Given the description of an element on the screen output the (x, y) to click on. 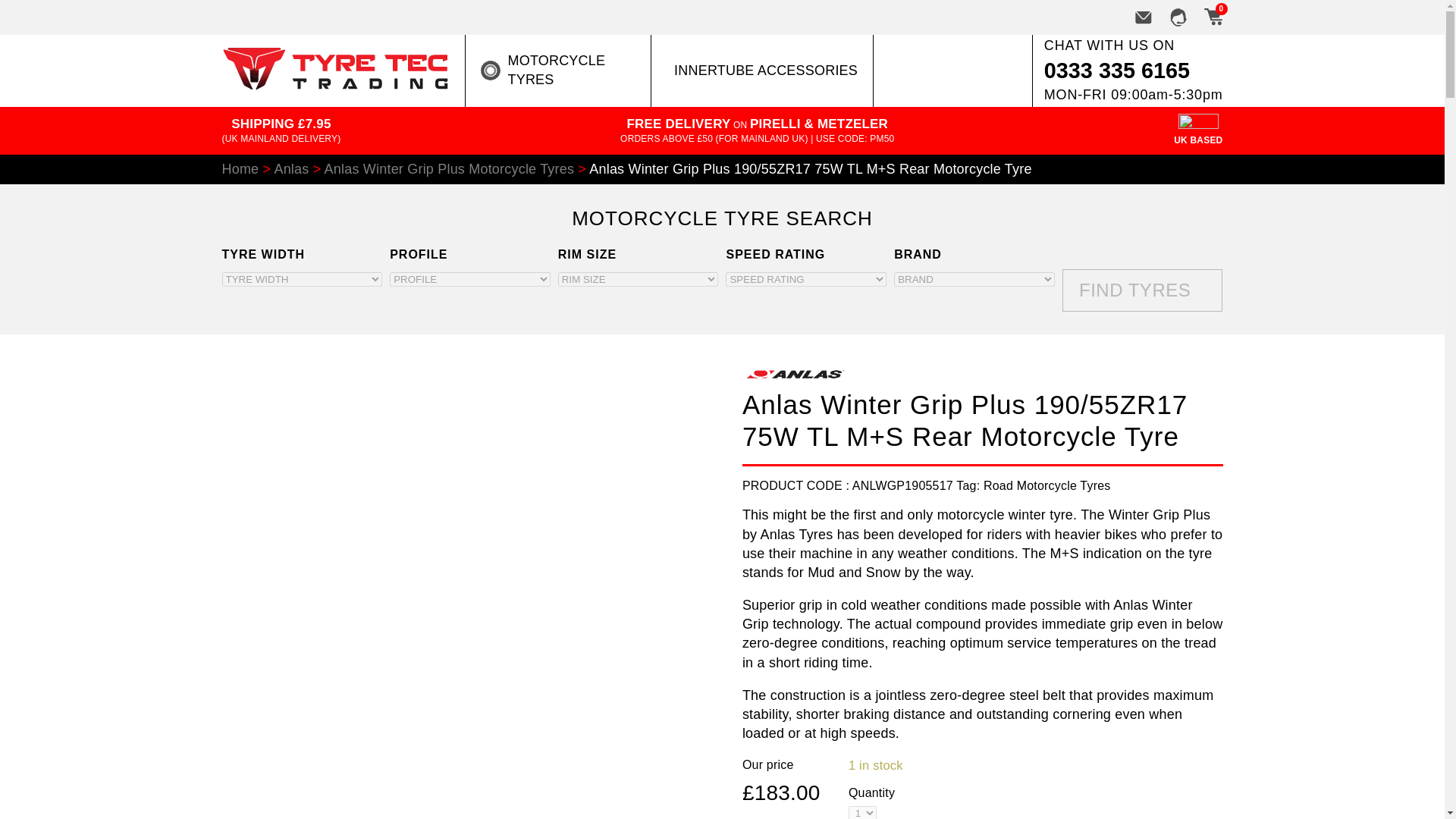
Qty (862, 812)
0 (1212, 17)
TyreTec Trading (334, 85)
MOTORCYCLE TYRES (557, 70)
